Given the description of an element on the screen output the (x, y) to click on. 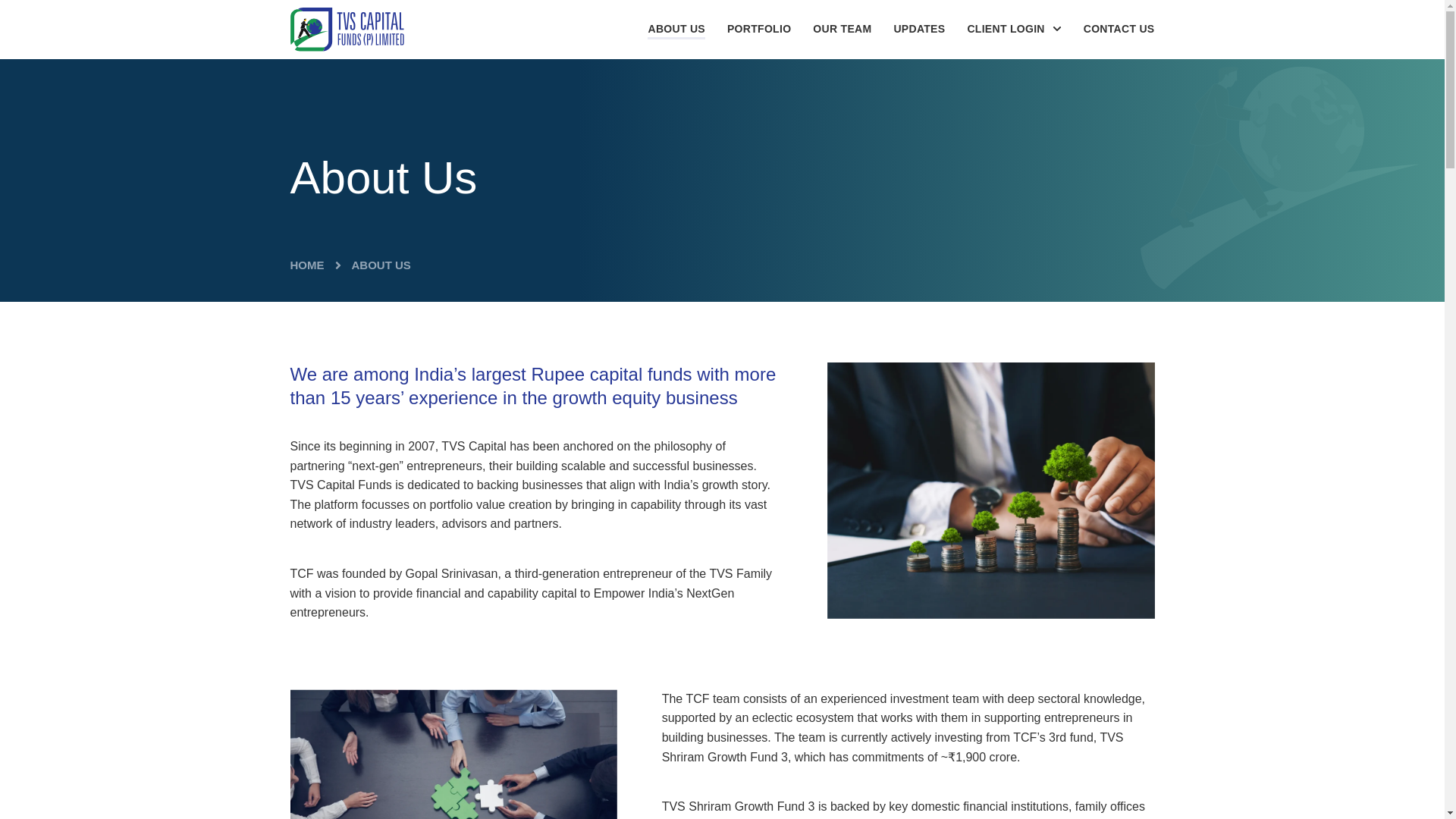
About Us (381, 265)
HOME (306, 265)
CONTACT US (1118, 28)
UPDATES (918, 28)
Home (306, 265)
PORTFOLIO (758, 28)
ABOUT US (675, 28)
OUR TEAM (841, 28)
CLIENT LOGIN (1013, 28)
